Given the description of an element on the screen output the (x, y) to click on. 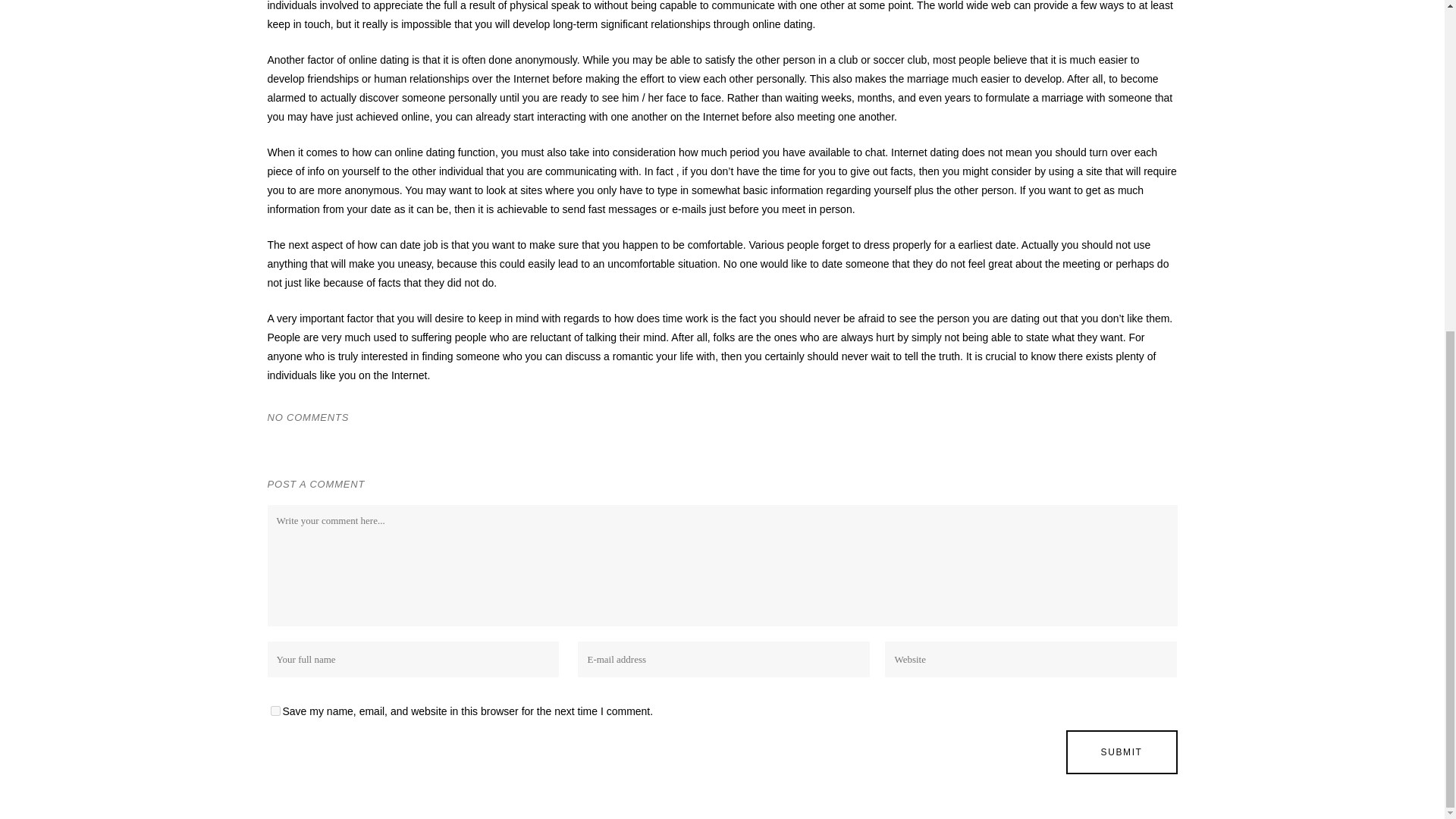
Submit (1121, 751)
yes (274, 710)
Submit (1121, 751)
